Given the description of an element on the screen output the (x, y) to click on. 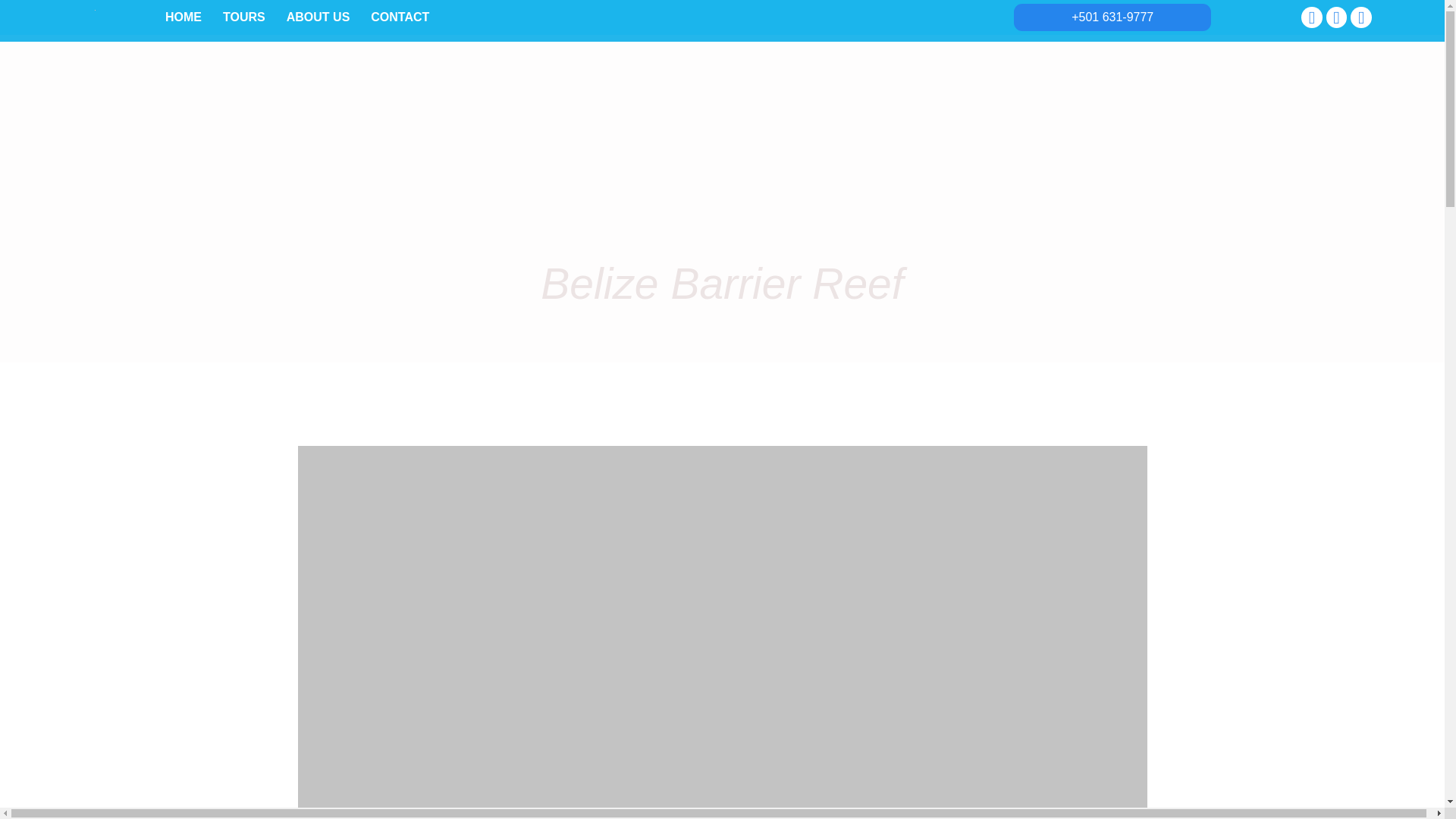
CONTACT (399, 17)
HOME (183, 17)
ABOUT US (318, 17)
TOURS (244, 17)
